Given the description of an element on the screen output the (x, y) to click on. 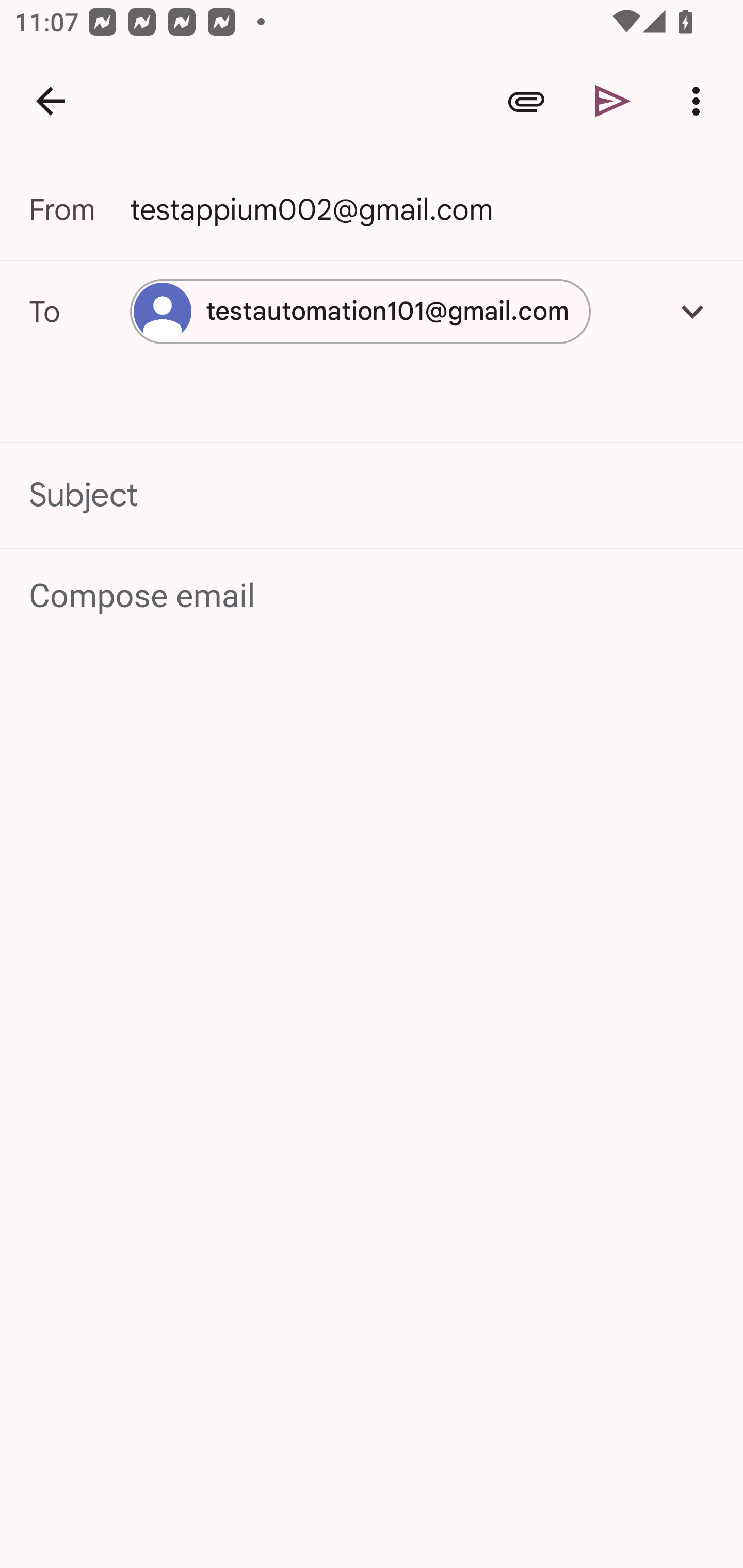
Navigate up (50, 101)
Attach file (525, 101)
Send (612, 101)
More options (699, 101)
From (79, 209)
Add Cc/Bcc (692, 311)
Subject (371, 494)
Compose email (372, 595)
